Given the description of an element on the screen output the (x, y) to click on. 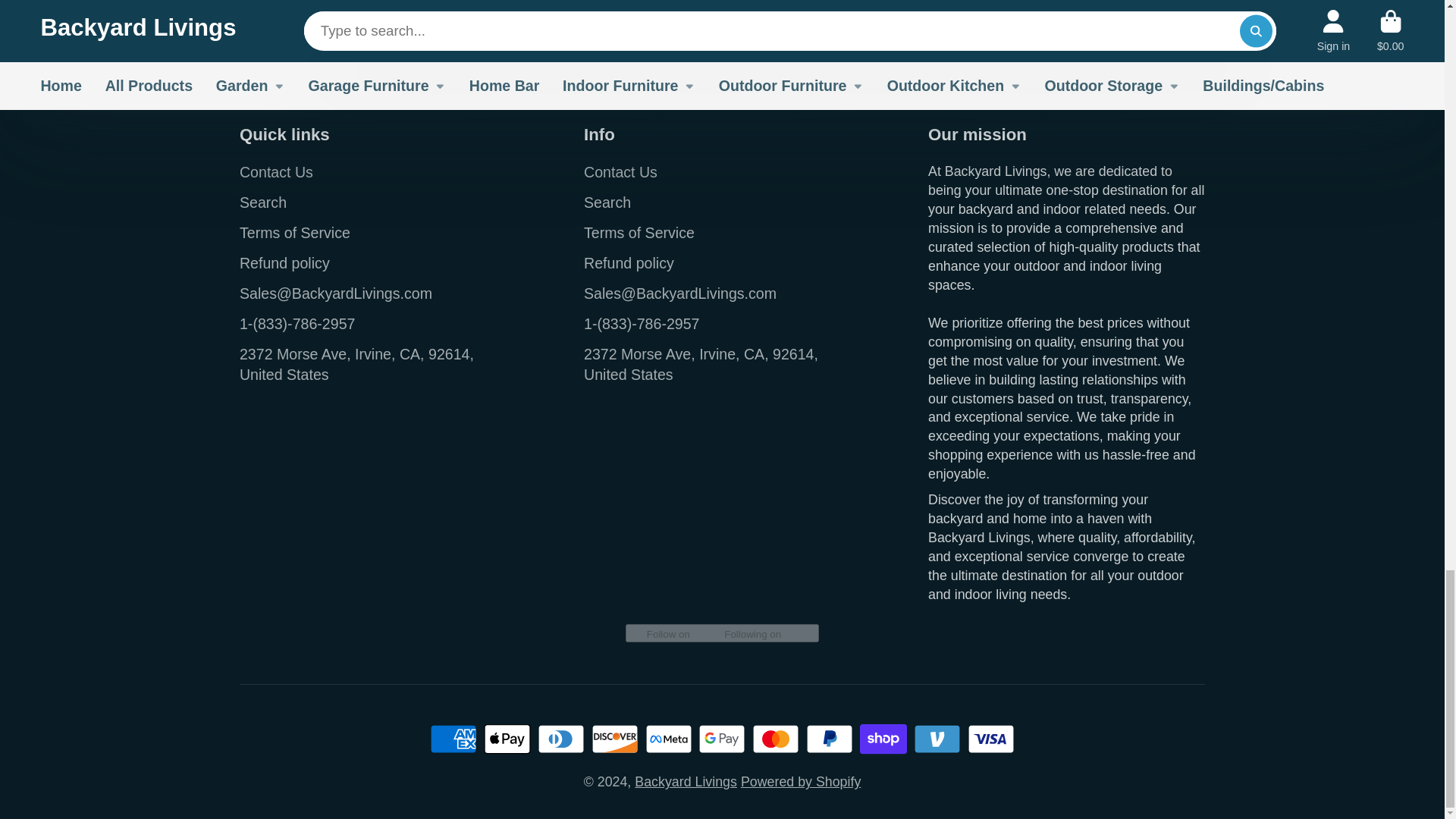
American Express (453, 738)
Apple Pay (507, 738)
Diners Club (561, 738)
Meta Pay (668, 738)
Discover (615, 738)
